Given the description of an element on the screen output the (x, y) to click on. 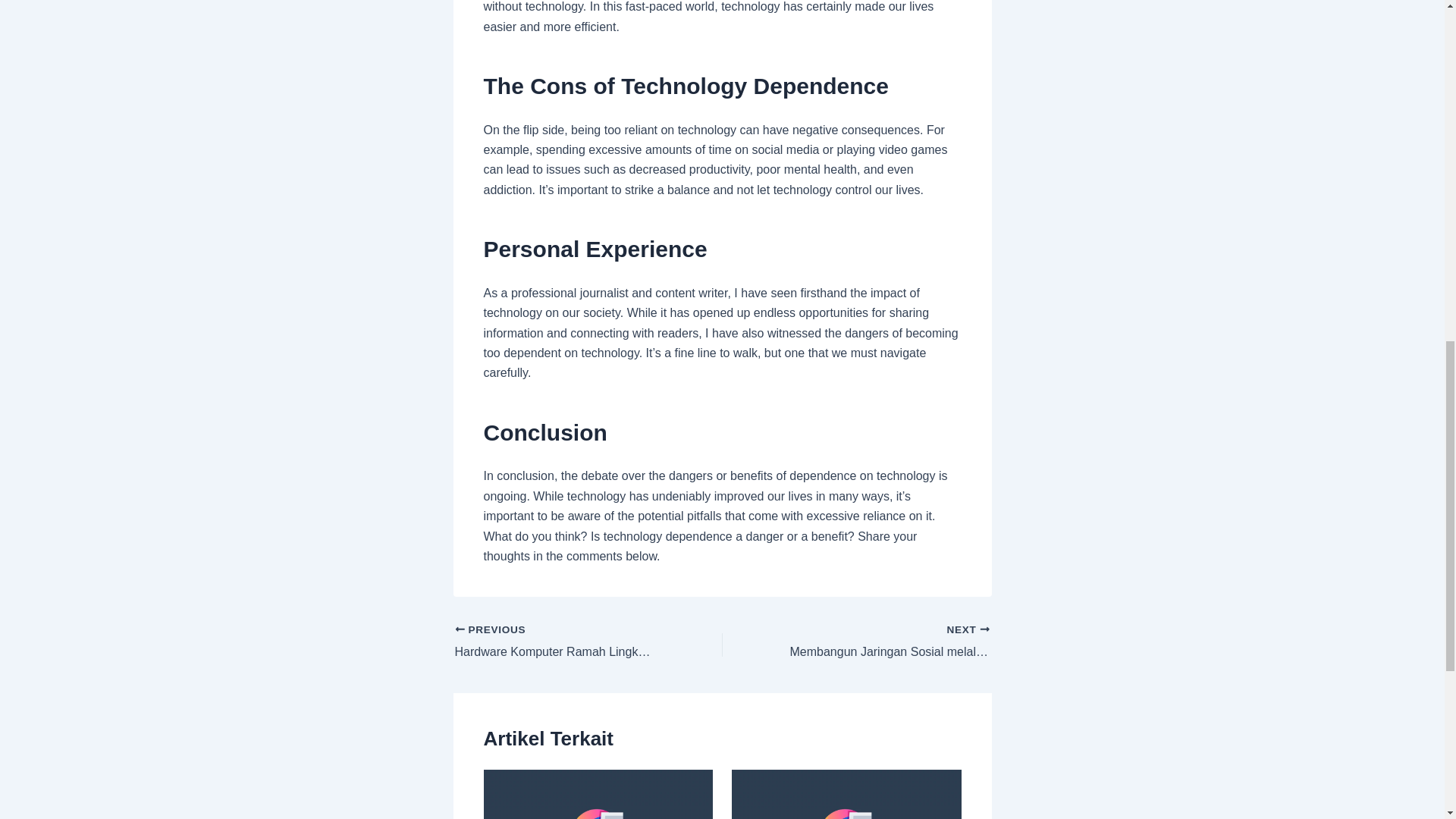
Membangun Jaringan Sosial melalui Internet (882, 641)
Hardware Komputer Ramah Lingkungan: Apa Saja Pilihannya? (882, 641)
